Given the description of an element on the screen output the (x, y) to click on. 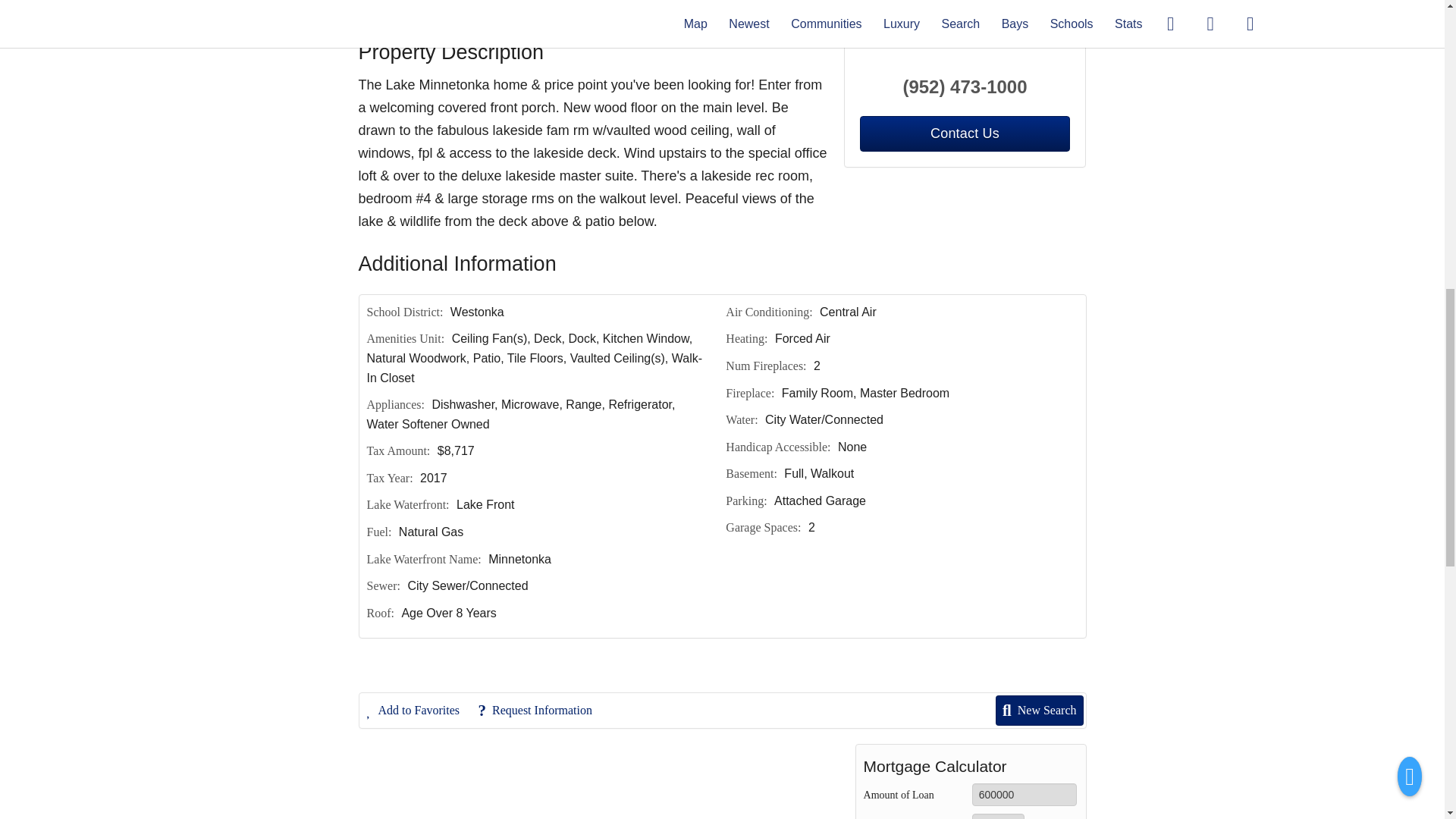
Call Us (483, 10)
New Search (1040, 10)
View on Map (564, 10)
6 (998, 816)
Contact Us (965, 133)
Contact Us (407, 10)
600000 (1024, 793)
